Given the description of an element on the screen output the (x, y) to click on. 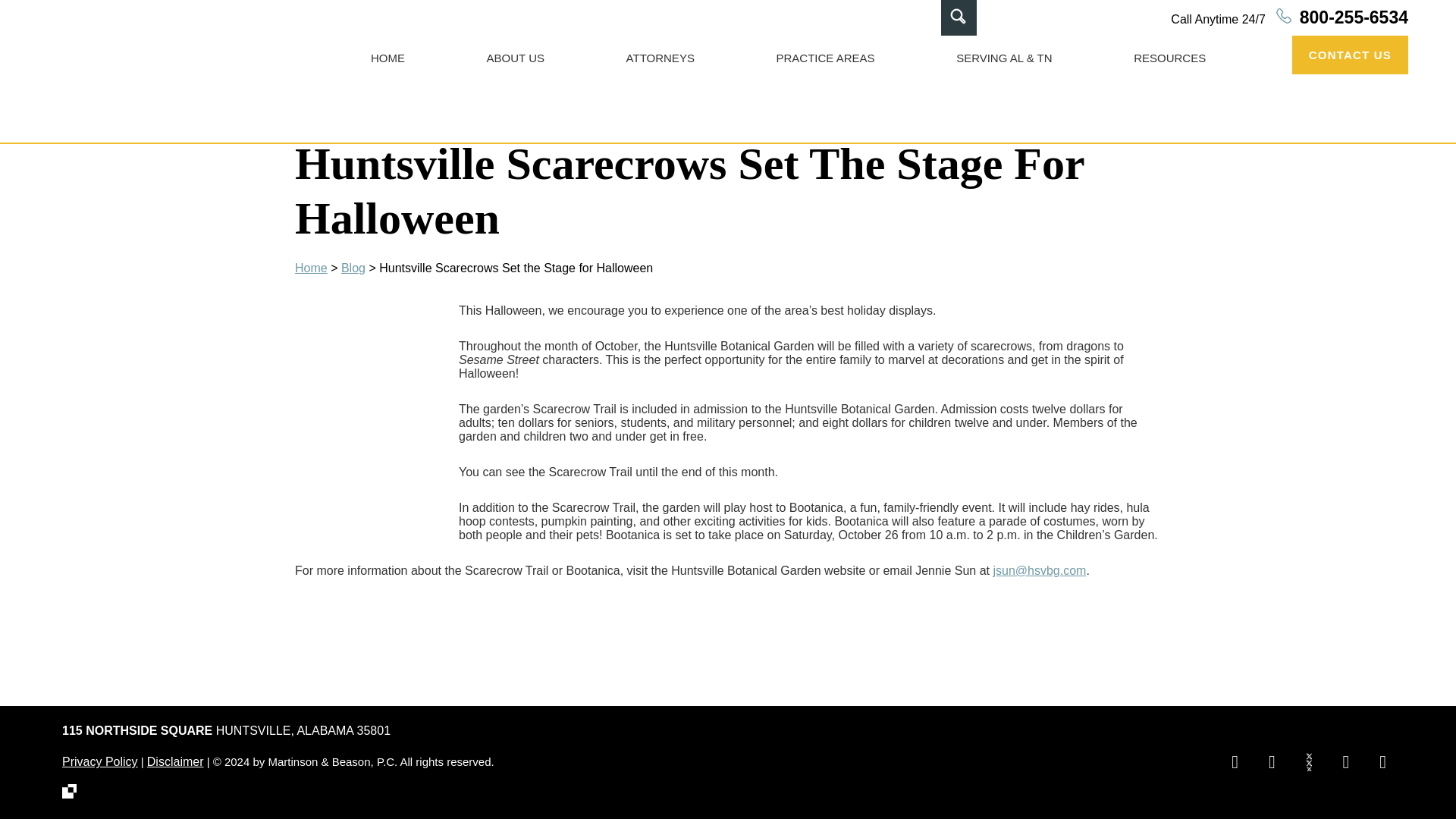
PRACTICE AREAS (825, 57)
ABOUT US (515, 57)
ATTORNEYS (660, 57)
Call to 800-255-6534 (1288, 17)
HOME (387, 57)
